Given the description of an element on the screen output the (x, y) to click on. 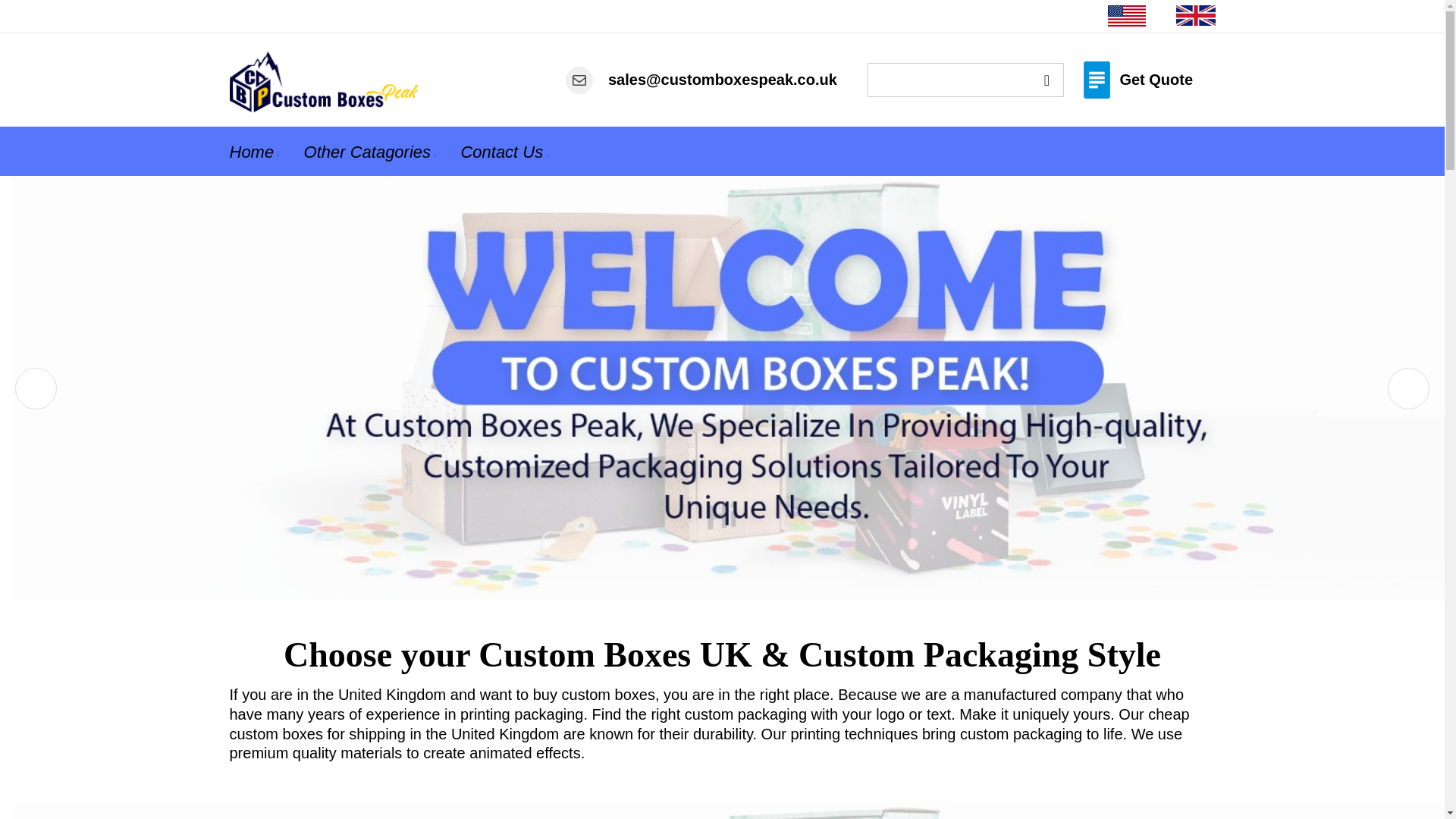
Home (258, 151)
Mail (579, 80)
Get Quote (1155, 79)
Other Catagories (367, 151)
